Given the description of an element on the screen output the (x, y) to click on. 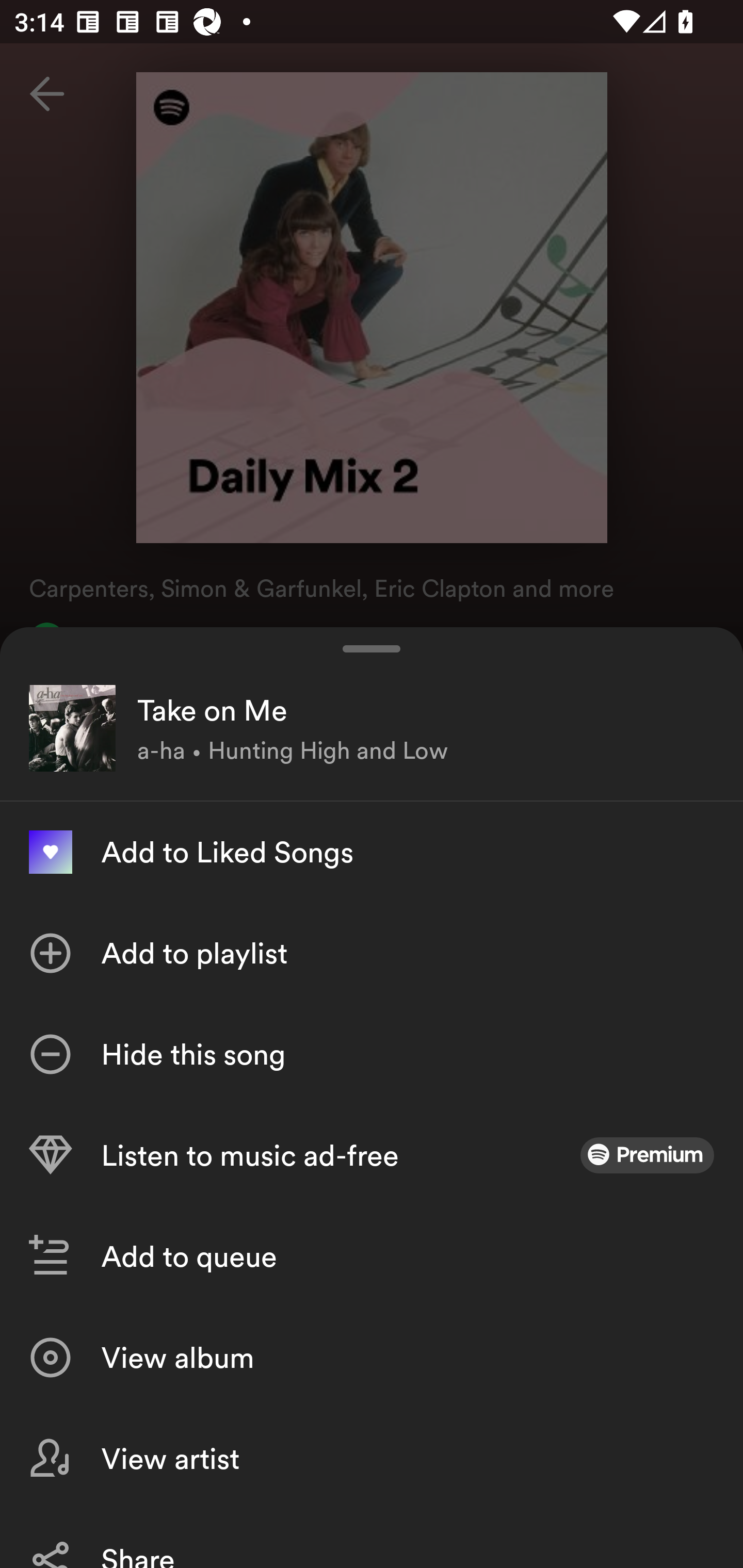
Add to Liked Songs (371, 852)
Add to playlist (371, 953)
Hide this song (371, 1054)
Listen to music ad-free (371, 1155)
Add to queue (371, 1256)
View album (371, 1357)
View artist (371, 1458)
Share (371, 1538)
